Given the description of an element on the screen output the (x, y) to click on. 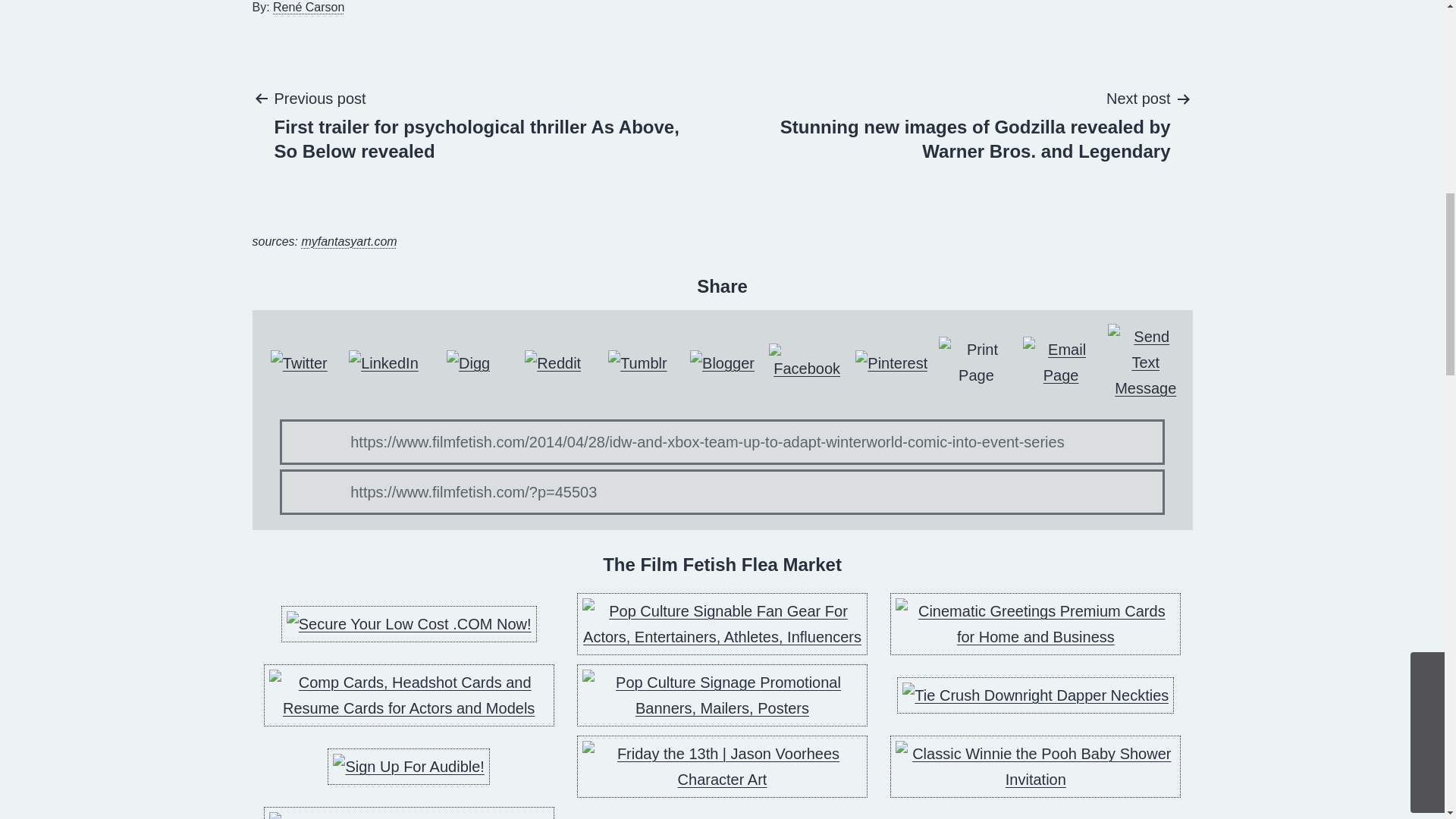
myfantasyart.com (348, 241)
